Given the description of an element on the screen output the (x, y) to click on. 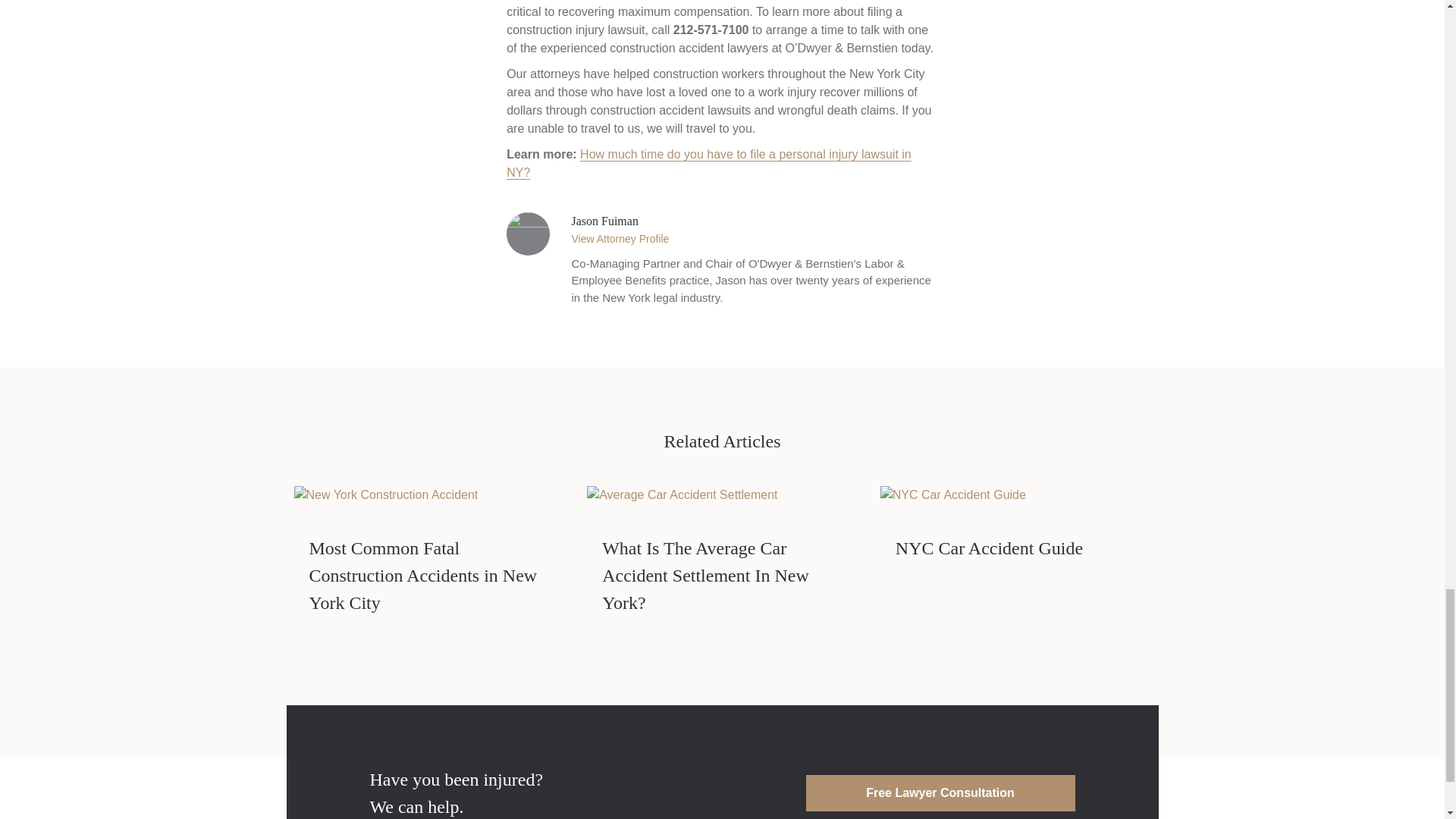
Most Common Fatal Construction Accidents in New York City (422, 575)
NYC Car Accident Guide (989, 547)
NYC Car Accident Guide (989, 547)
NYC Car Accident Guide (953, 493)
Most Common Fatal Construction Accidents in New York City (422, 575)
Most Common Fatal Construction Accidents in New York City (386, 493)
What Is The Average Car Accident Settlement In New York? (681, 493)
Free Lawyer Consultation (939, 792)
What Is The Average Car Accident Settlement In New York? (705, 575)
